Given the description of an element on the screen output the (x, y) to click on. 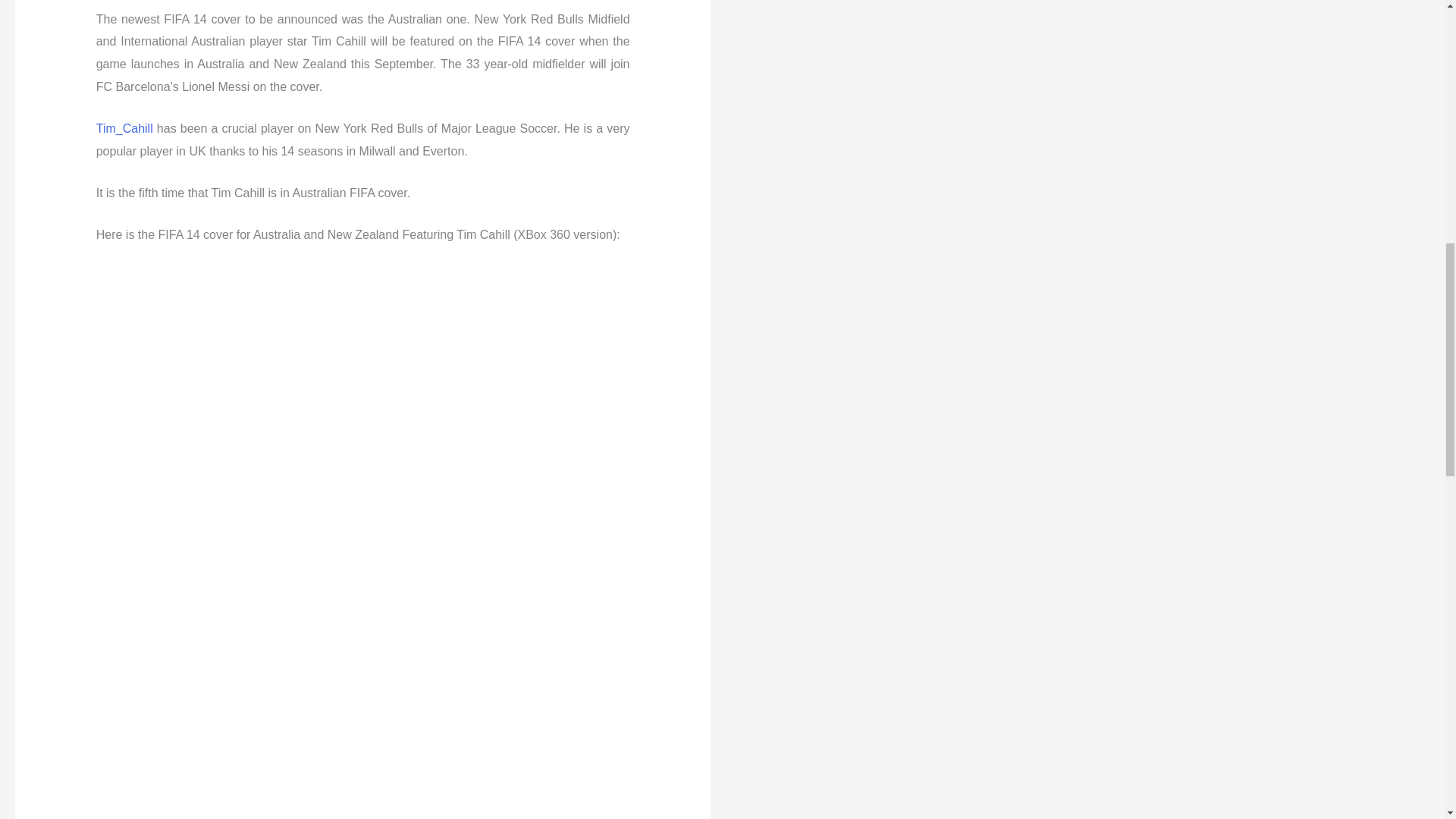
Advertisement (1092, 2)
